Given the description of an element on the screen output the (x, y) to click on. 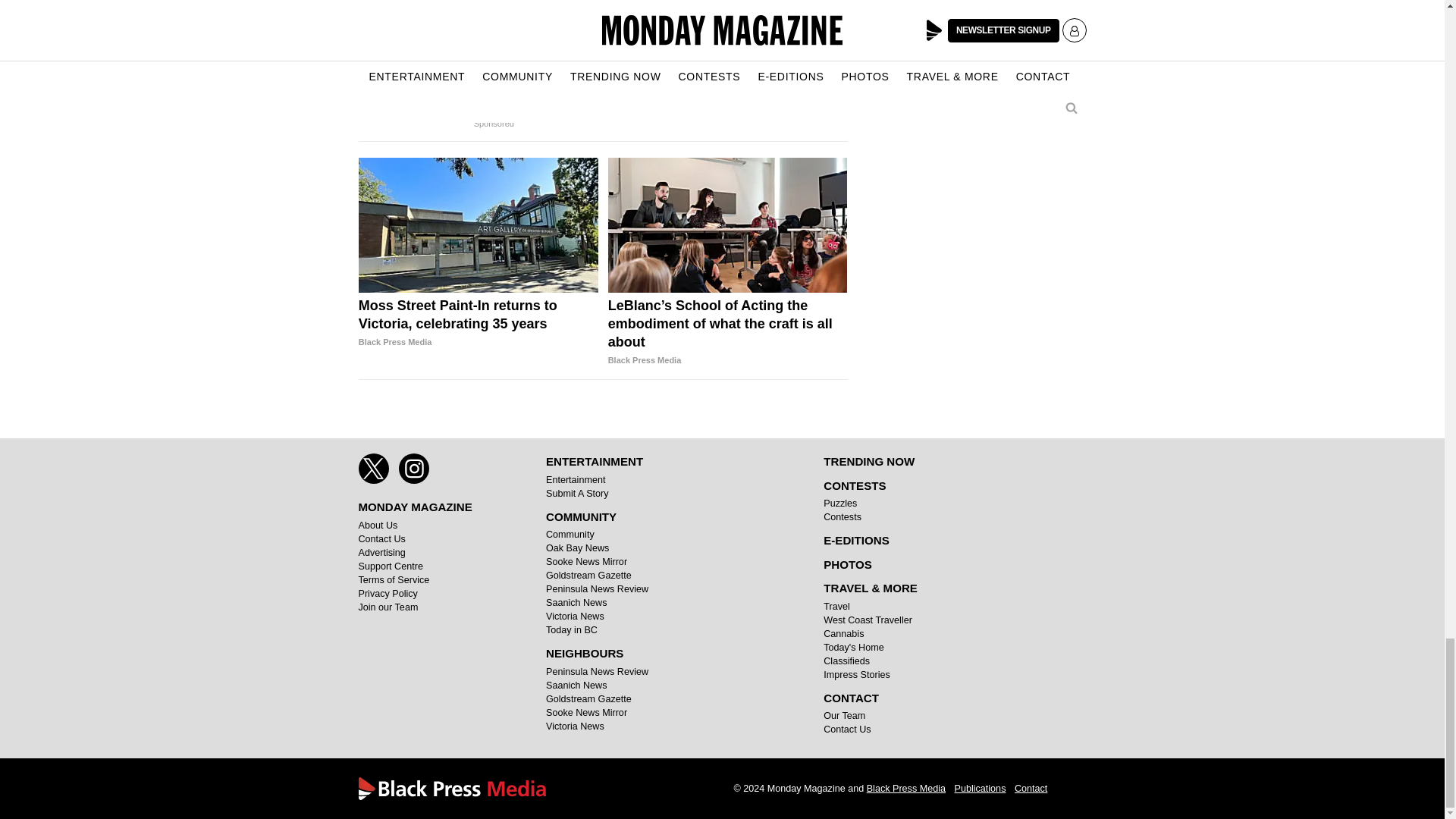
Patrick And Brittany Mahomes Baby No. 3 Gender Reveal (436, 91)
Patrick And Brittany Mahomes Baby No. 3 Gender Reveal (436, 31)
